Given the description of an element on the screen output the (x, y) to click on. 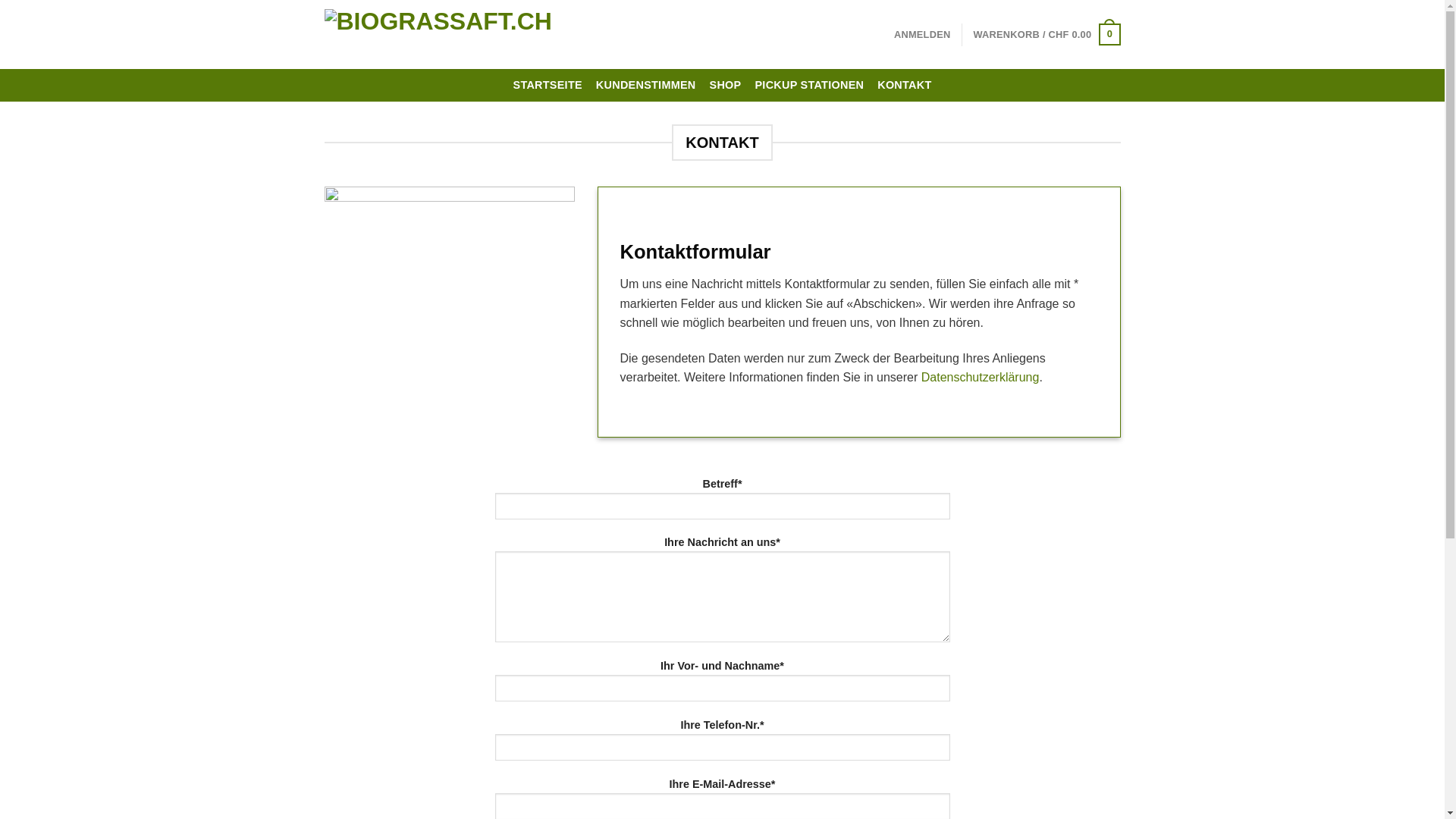
PICKUP STATIONEN Element type: text (808, 85)
WARENKORB / CHF 0.00
0 Element type: text (1046, 34)
STARTSEITE Element type: text (546, 85)
biograssaft.ch - Frischer Weizengrassaft Element type: hover (467, 34)
KUNDENSTIMMEN Element type: text (646, 85)
KONTAKT Element type: text (904, 85)
SHOP Element type: text (725, 85)
ANMELDEN Element type: text (922, 34)
